Given the description of an element on the screen output the (x, y) to click on. 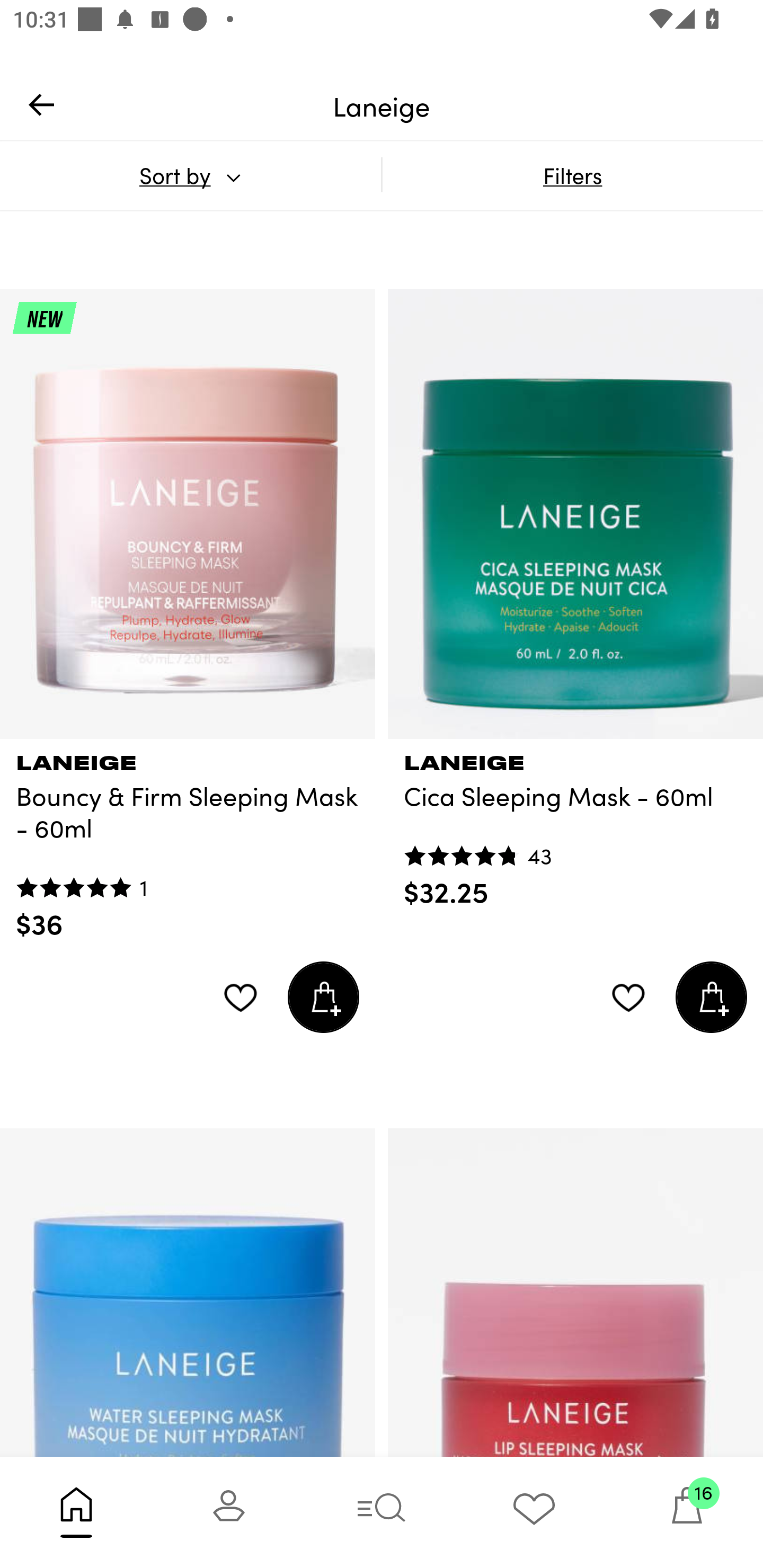
Sort by (190, 174)
Filters (572, 174)
LANEIGE Bouncy & Firm Sleeping Mask - 60ml 1 $36 (187, 840)
LANEIGE Cica Sleeping Mask - 60ml 43 $32.25 (575, 824)
16 (686, 1512)
